Given the description of an element on the screen output the (x, y) to click on. 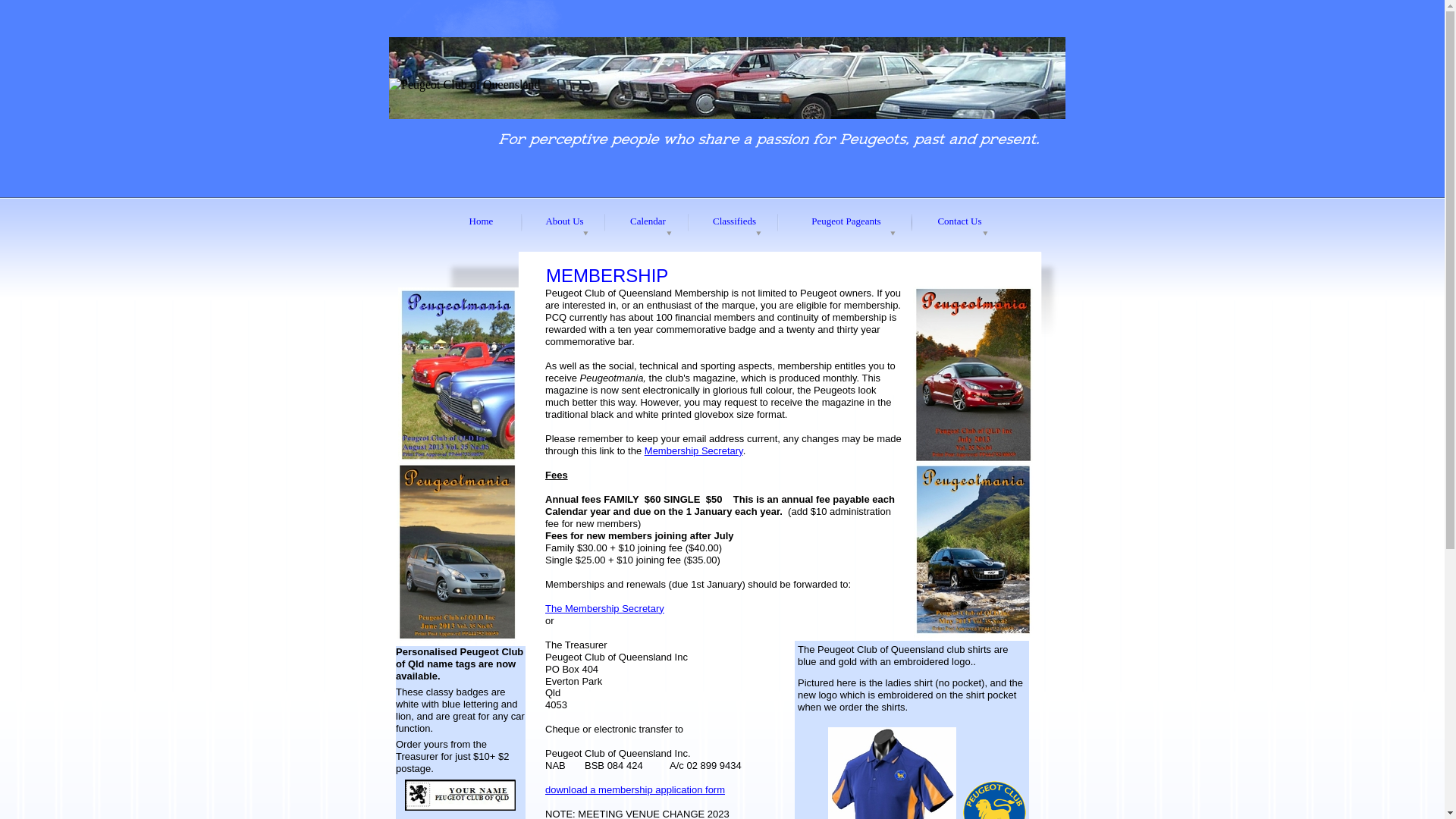
The Membership Secretary Element type: text (604, 608)
Calendar Element type: text (647, 222)
Home Element type: text (481, 222)
Peugeot Pageants Element type: text (845, 222)
Membership Secretary Element type: text (693, 450)
Classifieds Element type: text (734, 222)
About Us Element type: text (564, 222)
download a membership application form Element type: text (634, 789)
Contact Us Element type: text (959, 222)
